Given the description of an element on the screen output the (x, y) to click on. 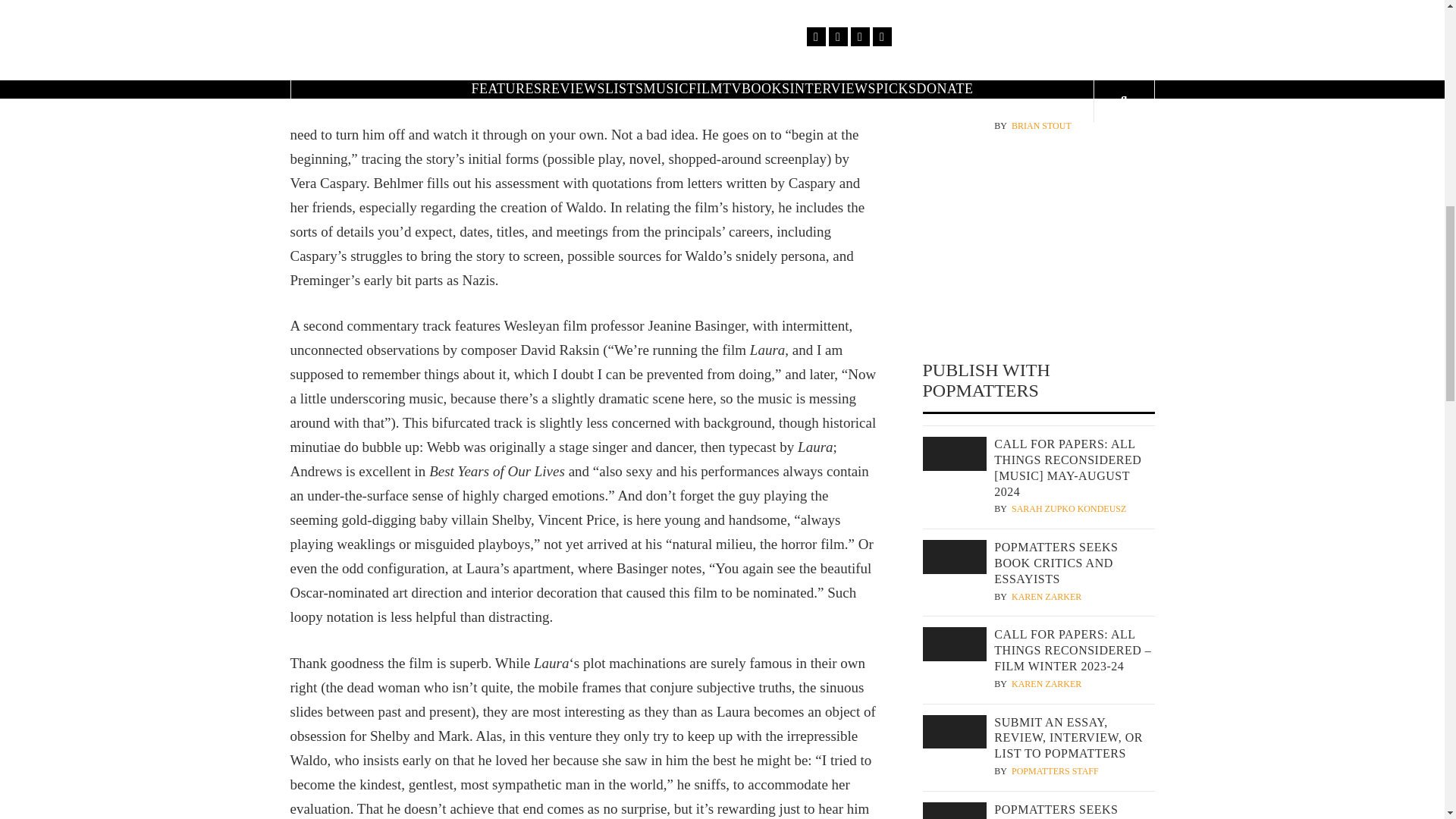
Sarah Zupko Kondeusz (1068, 508)
Brian Stout (1041, 125)
Karen Zarker (1046, 596)
PopMatters Staff (1055, 771)
Kyle Cochrun (1047, 22)
Karen Zarker (1046, 684)
